Given the description of an element on the screen output the (x, y) to click on. 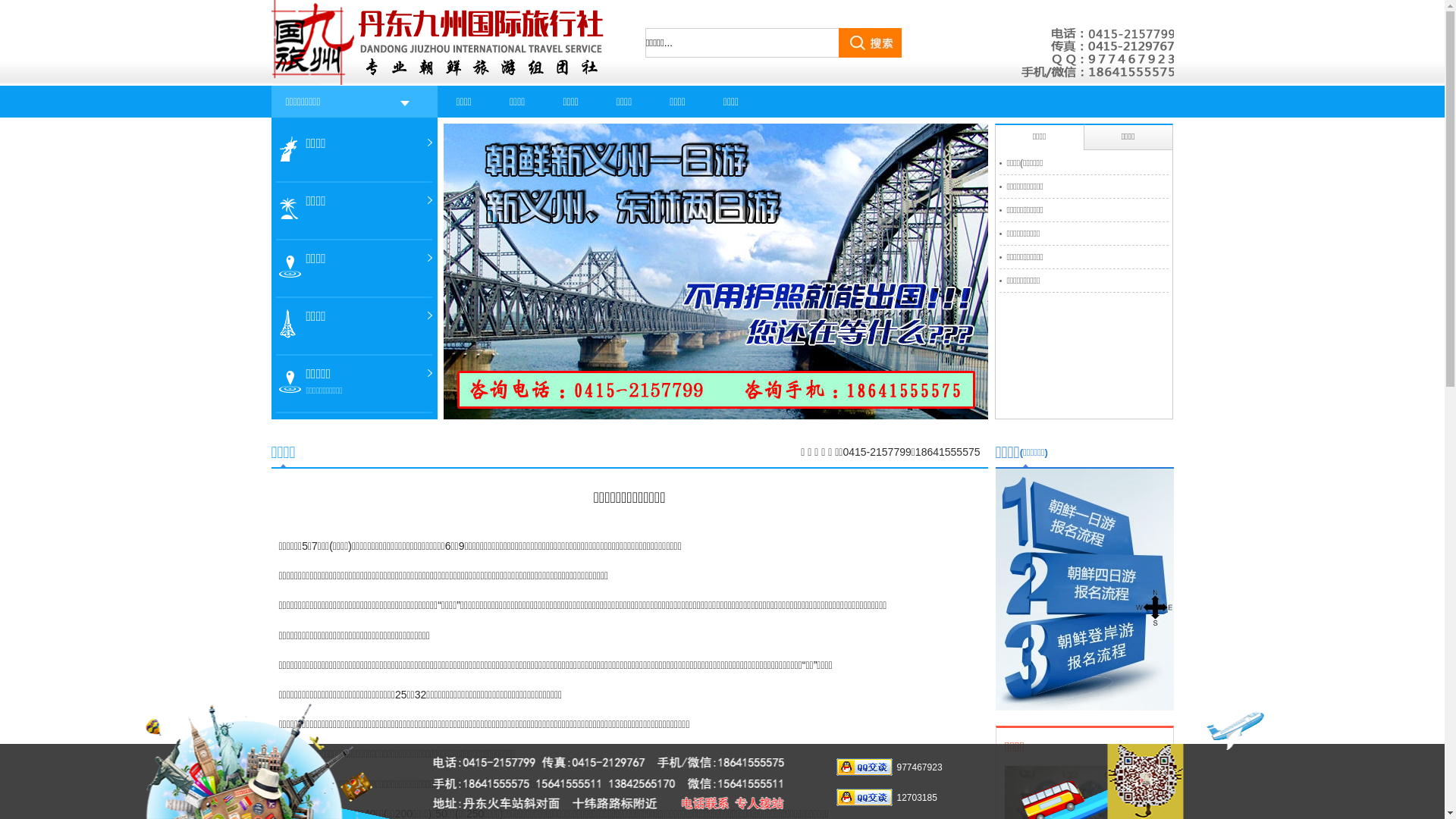
977467923 Element type: text (918, 767)
12703185 Element type: text (916, 797)
  Element type: text (869, 42)
